Given the description of an element on the screen output the (x, y) to click on. 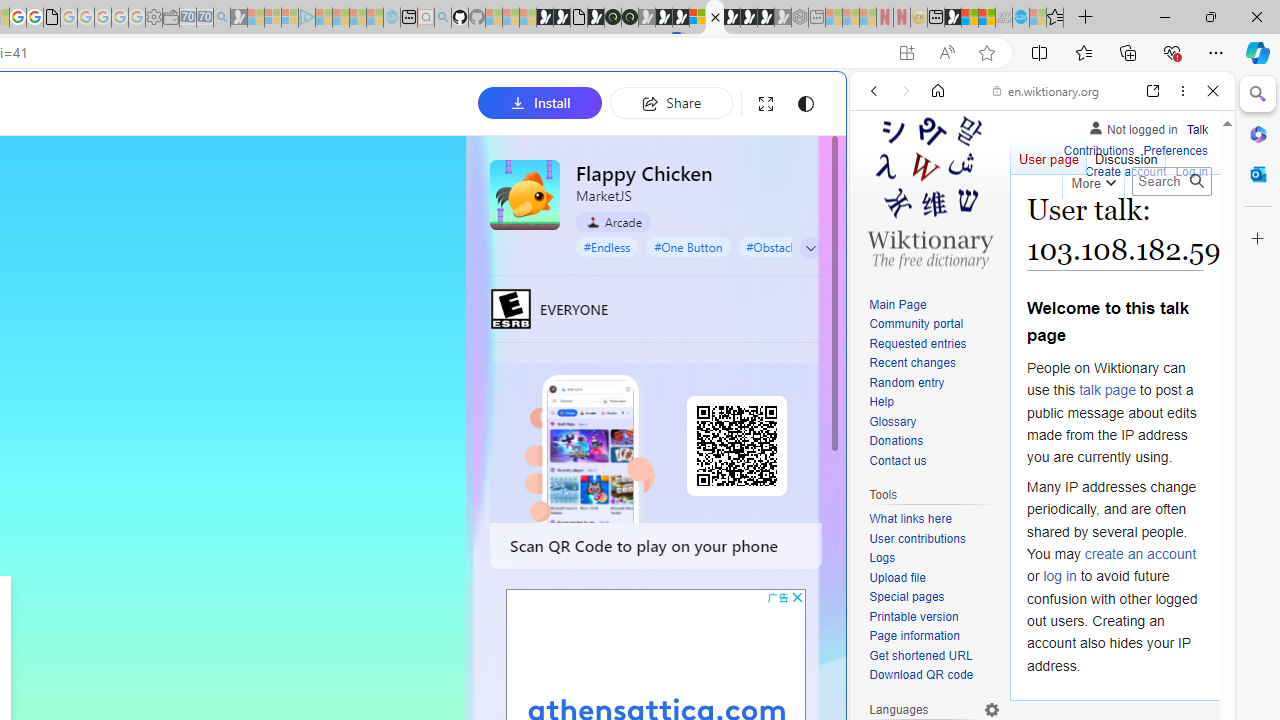
Future Focus Report 2024 (629, 17)
Web scope (882, 180)
Cheap Car Rentals - Save70.com - Sleeping (204, 17)
VIDEOS (1006, 228)
Glossary (934, 421)
Upload file (897, 577)
Glossary (892, 421)
